Given the description of an element on the screen output the (x, y) to click on. 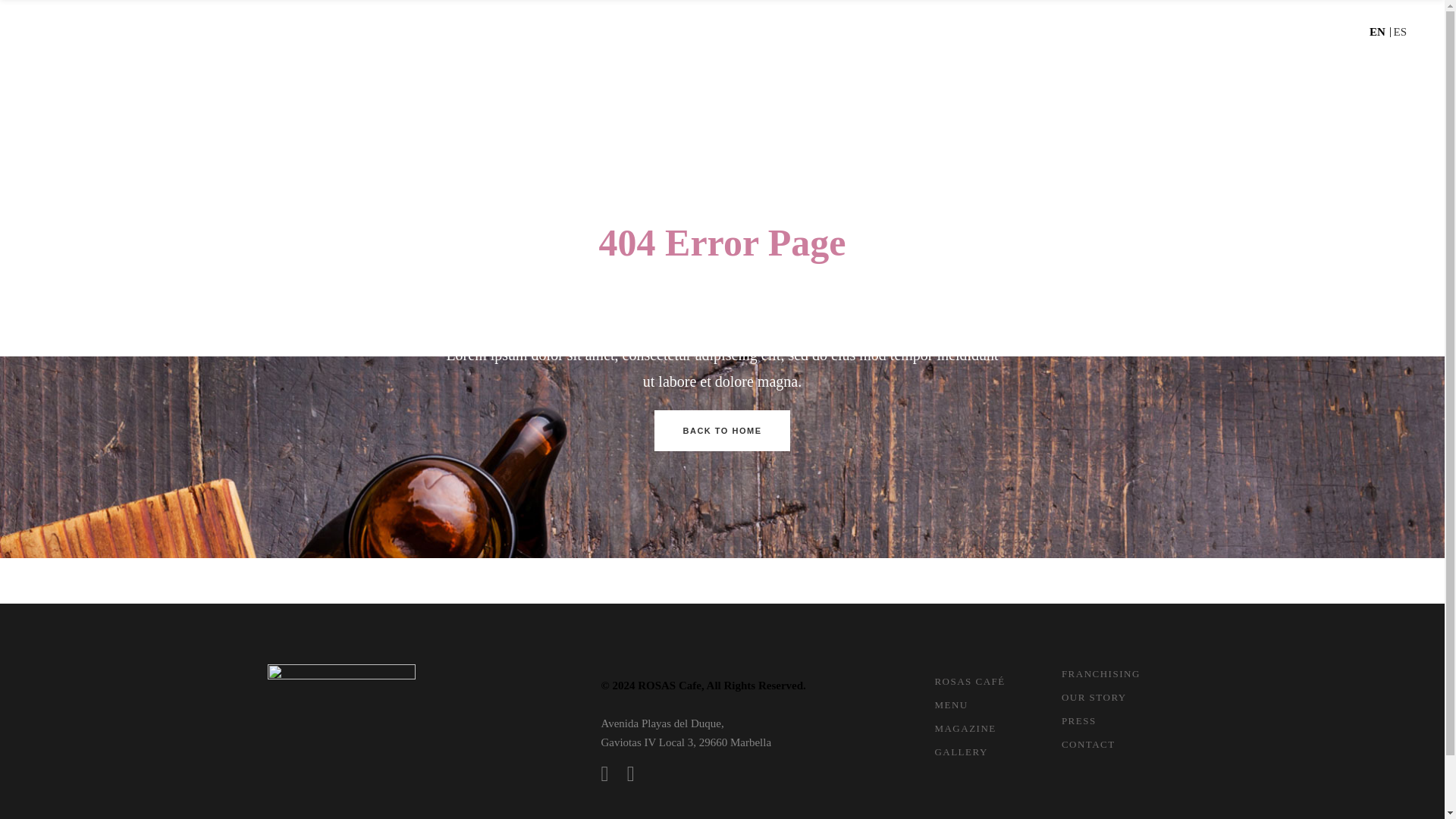
GALLERY (1077, 38)
FRANCHISING (1232, 38)
MAGAZINE (992, 38)
CONTACT (1381, 38)
U (983, 412)
ES (1399, 31)
EN (1378, 31)
